Given the description of an element on the screen output the (x, y) to click on. 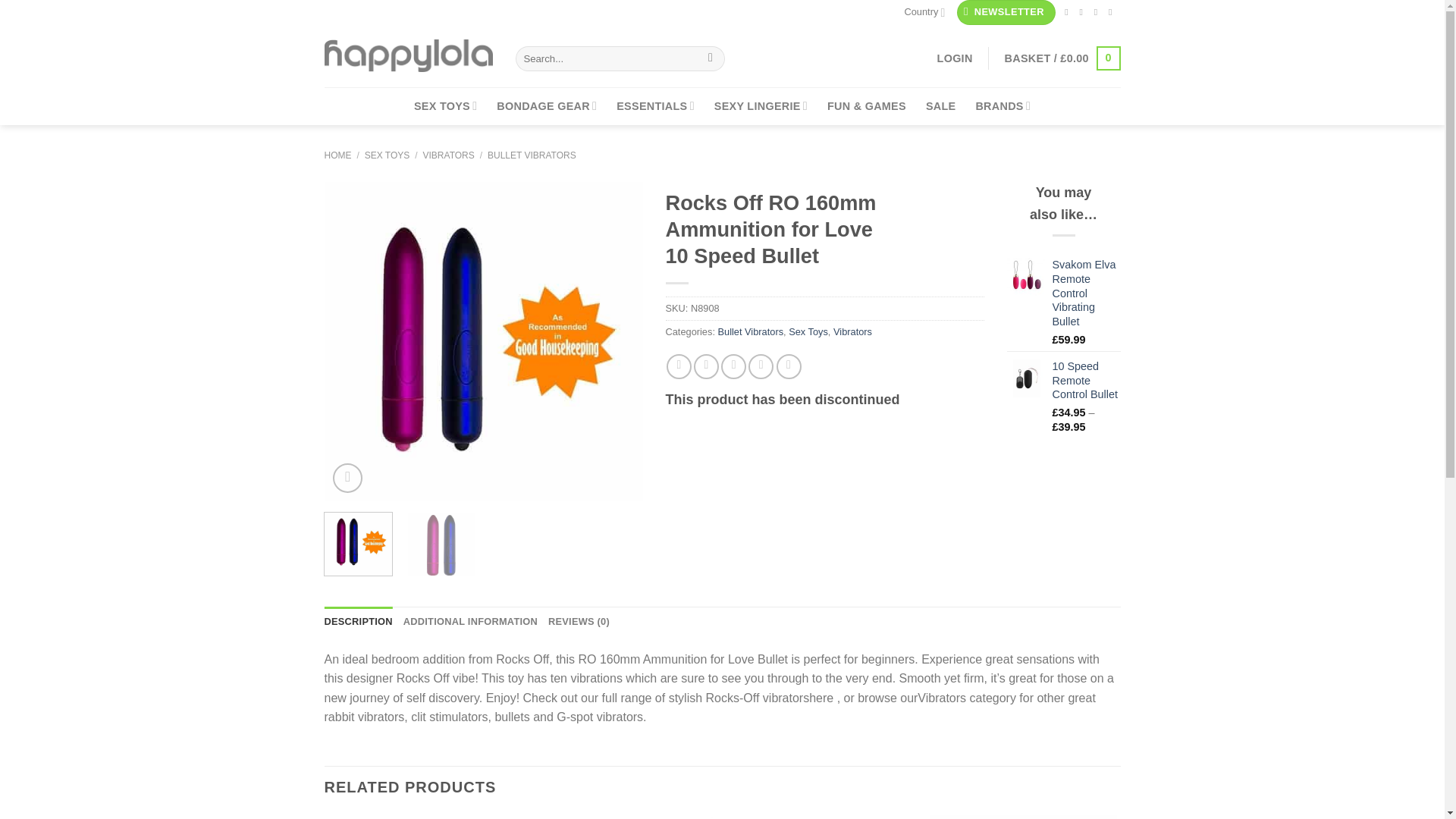
LOGIN (954, 58)
Follow on Twitter (1098, 11)
SEX TOYS (445, 105)
Follow on Instagram (1084, 11)
Search (710, 58)
Follow on Facebook (1069, 11)
Send us an email (1113, 11)
Share on Facebook (678, 366)
Basket (1062, 58)
Sign up for Newsletter (1005, 12)
Share on Twitter (706, 366)
Login (954, 58)
Zoom (347, 478)
Country (924, 11)
NEWSLETTER (1005, 12)
